Given the description of an element on the screen output the (x, y) to click on. 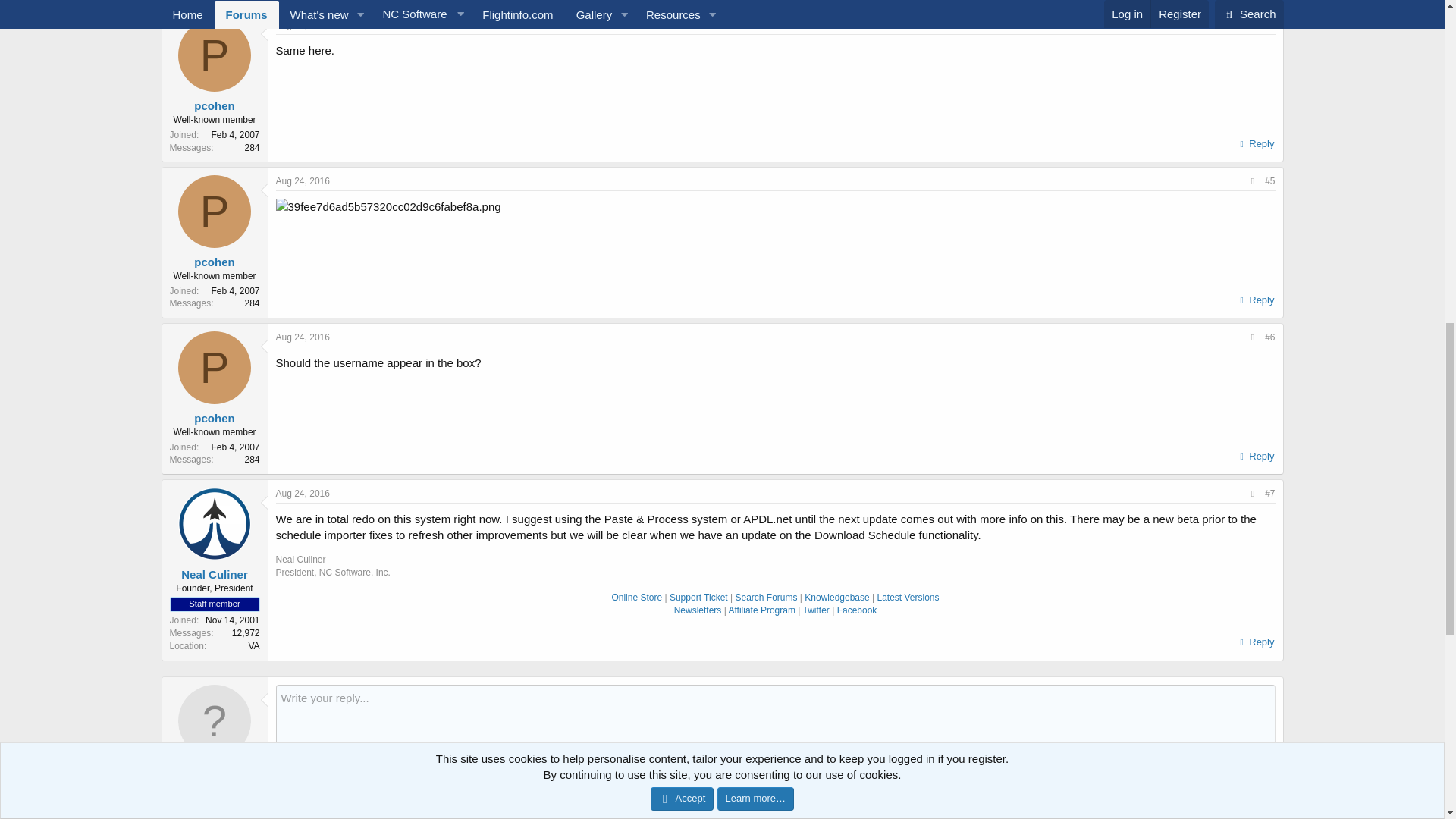
Reply, quoting this message (1254, 143)
Aug 24, 2016 at 11:23 AM (303, 24)
Reply, quoting this message (1254, 300)
39fee7d6ad5b57320cc02d9c6fabef8a.png (388, 206)
Aug 24, 2016 at 11:23 AM (303, 181)
